Given the description of an element on the screen output the (x, y) to click on. 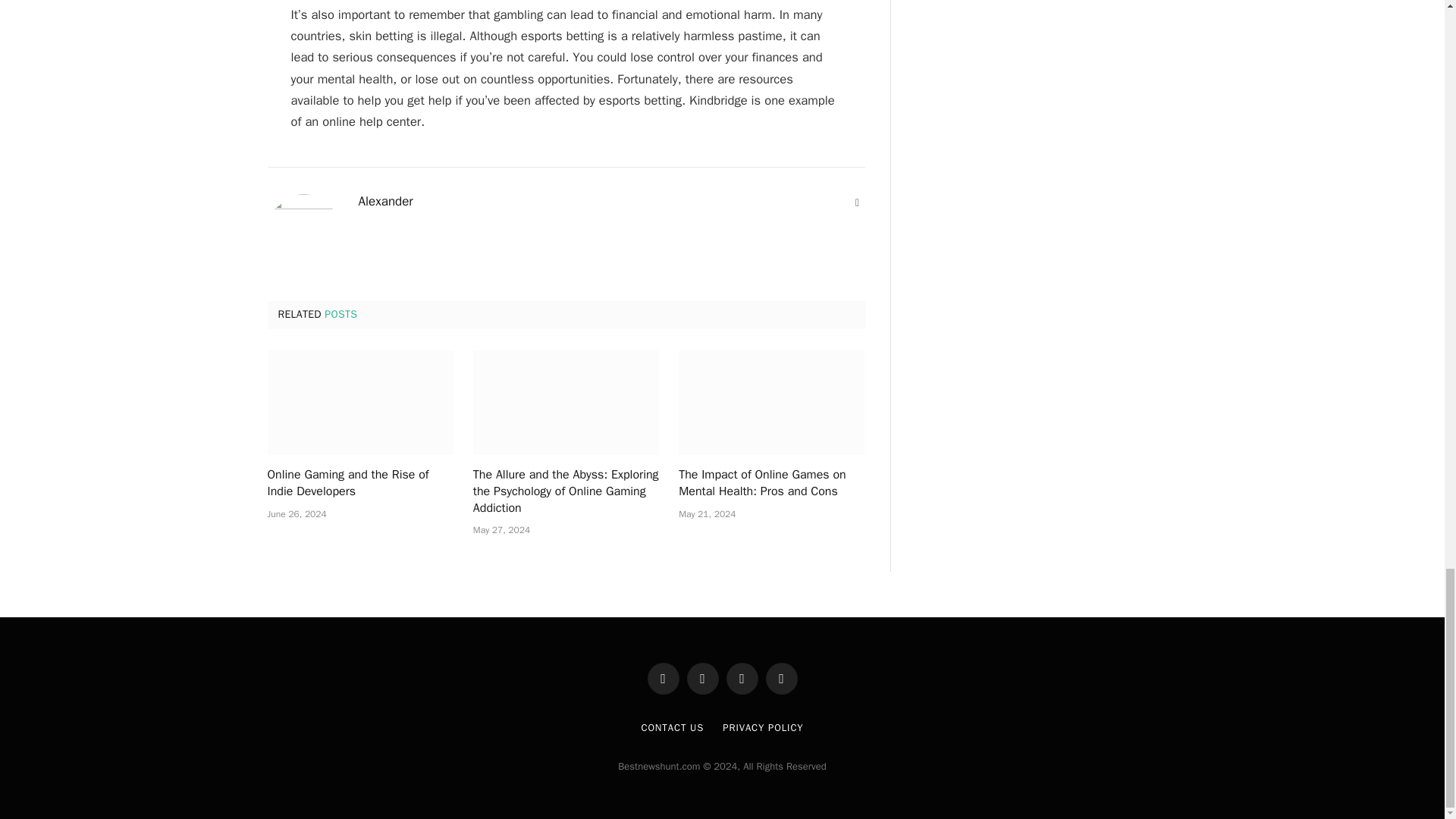
Online Gaming and the Rise of Indie Developers (359, 402)
Online Gaming and the Rise of Indie Developers (359, 483)
Website (856, 202)
Website (856, 202)
Posts by Alexander (385, 201)
Alexander (385, 201)
The Impact of Online Games on Mental Health: Pros and Cons (771, 483)
The Impact of Online Games on Mental Health: Pros and Cons (771, 402)
